Given the description of an element on the screen output the (x, y) to click on. 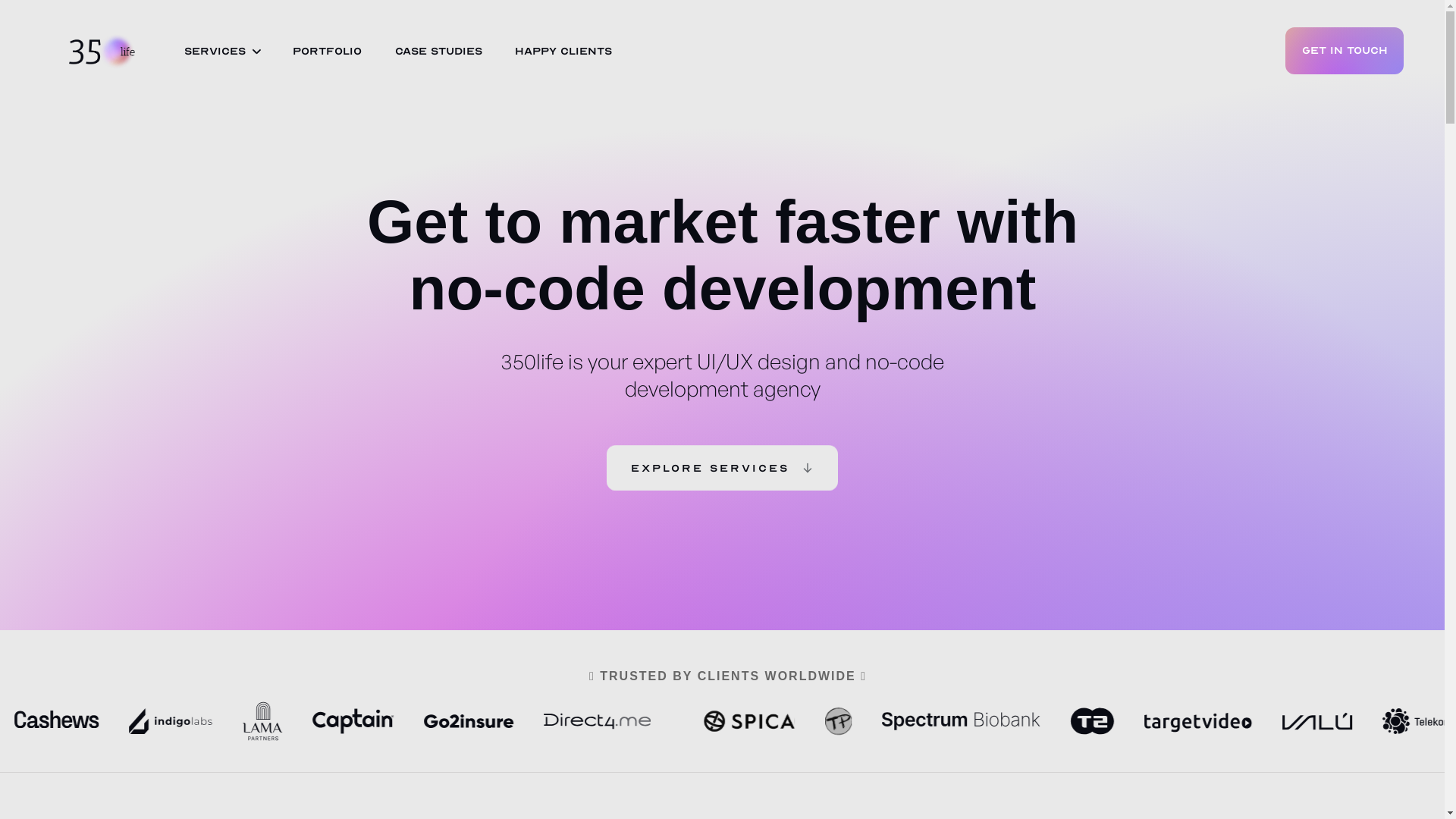
GET IN TOUCH Element type: text (1344, 50)
Portfolio Element type: text (327, 51)
Explore services Element type: text (721, 467)
HAPPY CLIENTS Element type: text (562, 51)
CASE STUDIES Element type: text (438, 51)
SERVICES Element type: text (214, 51)
